Given the description of an element on the screen output the (x, y) to click on. 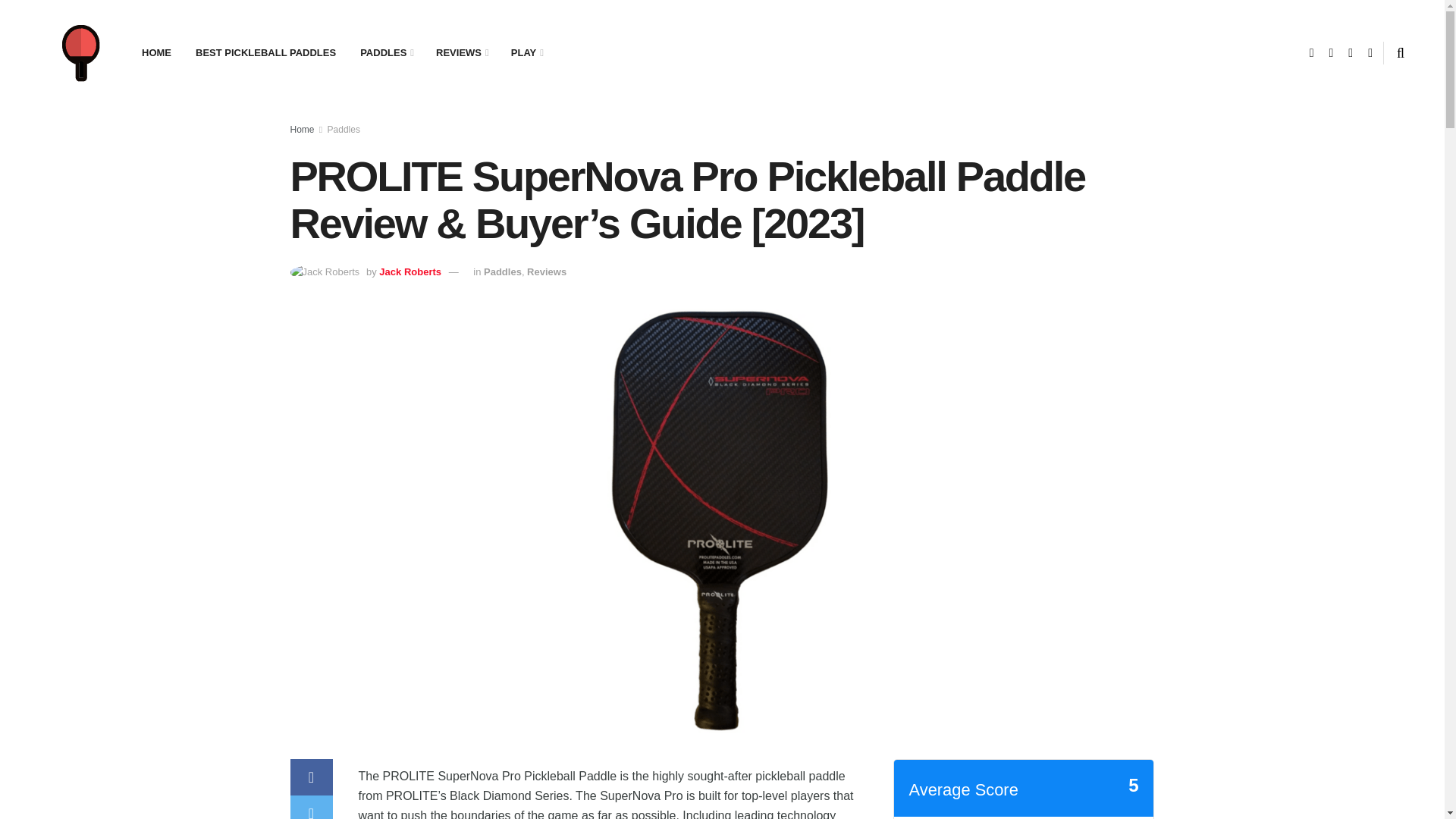
BEST PICKLEBALL PADDLES (265, 53)
REVIEWS (461, 53)
HOME (156, 53)
PADDLES (385, 53)
PLAY (526, 53)
